Given the description of an element on the screen output the (x, y) to click on. 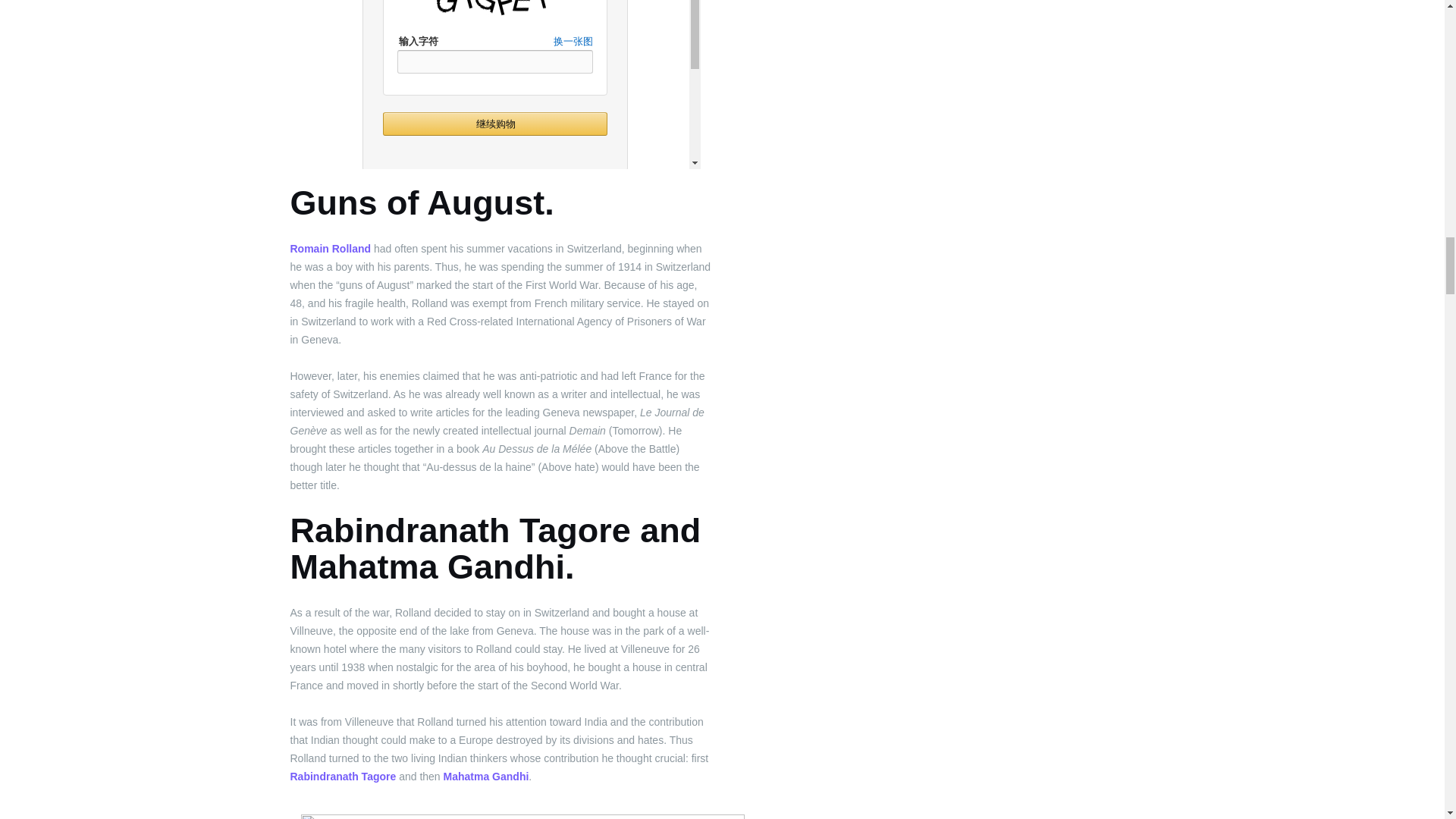
Rabindranath Tagore (342, 776)
Mahatma Gandhi (486, 776)
Romain Rolland (330, 248)
